Given the description of an element on the screen output the (x, y) to click on. 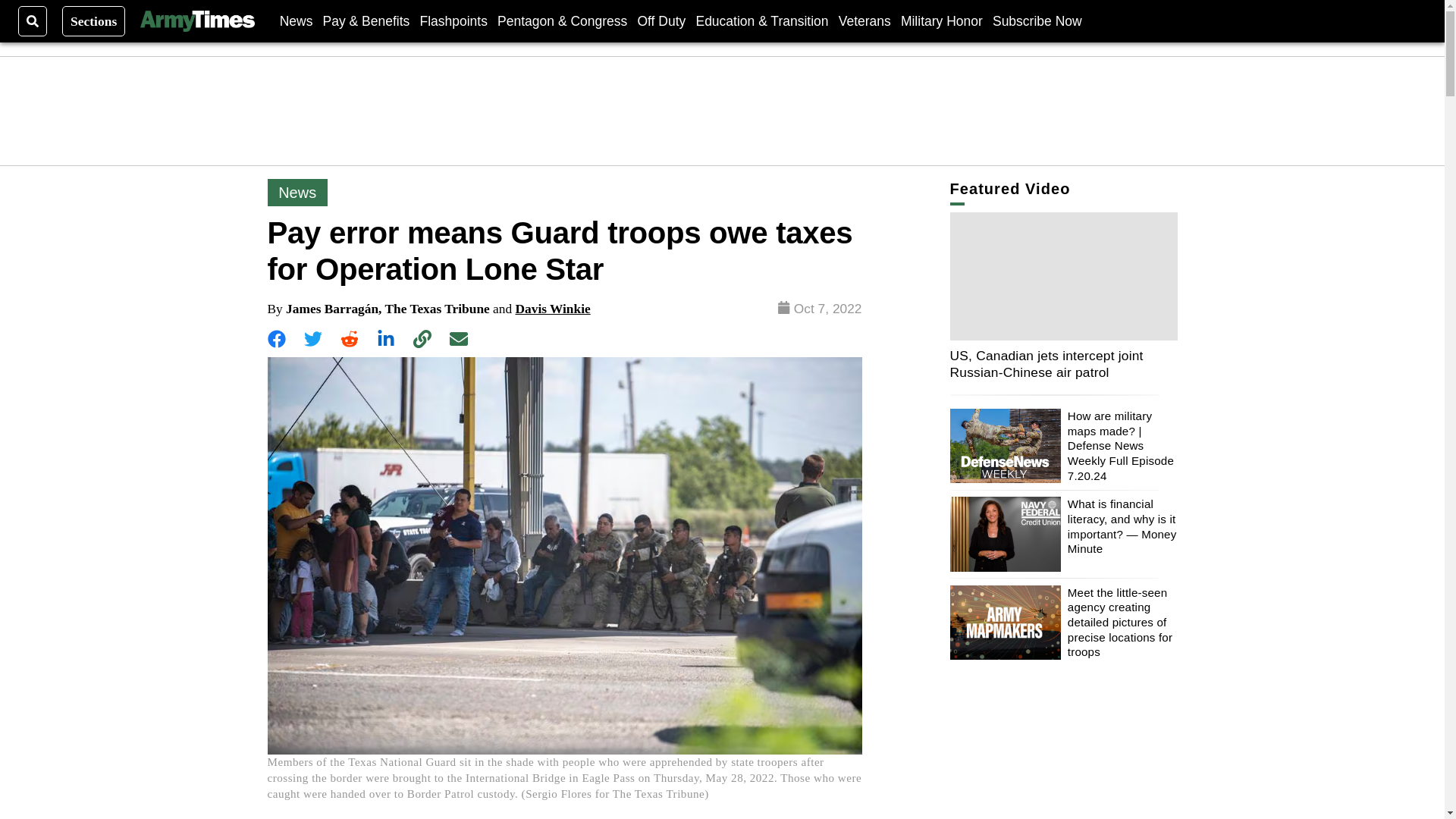
Veterans (864, 20)
Military Honor (941, 20)
Off Duty (661, 20)
Flashpoints (453, 20)
Army Times Logo (196, 20)
Sections (93, 20)
News (296, 20)
